Given the description of an element on the screen output the (x, y) to click on. 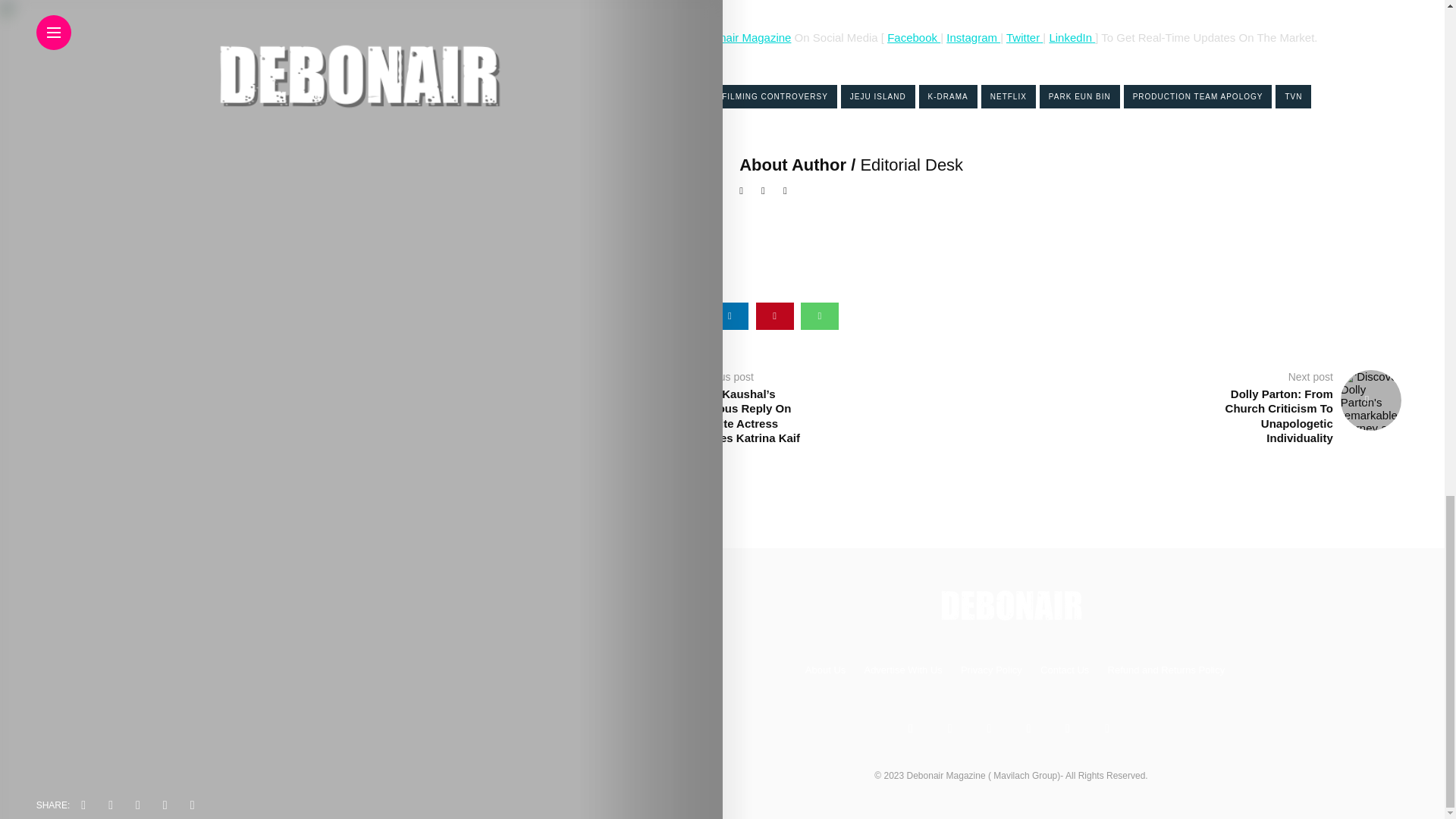
Debonair Magazine (741, 37)
FILMING CONTROVERSY (775, 96)
CASTAWAY DIVA (665, 96)
Instagram  (973, 37)
facebook (640, 316)
Twitter (1022, 37)
Facebook  (913, 37)
Posts by Editorial Desk (911, 164)
LinkedIn (1070, 37)
